Given the description of an element on the screen output the (x, y) to click on. 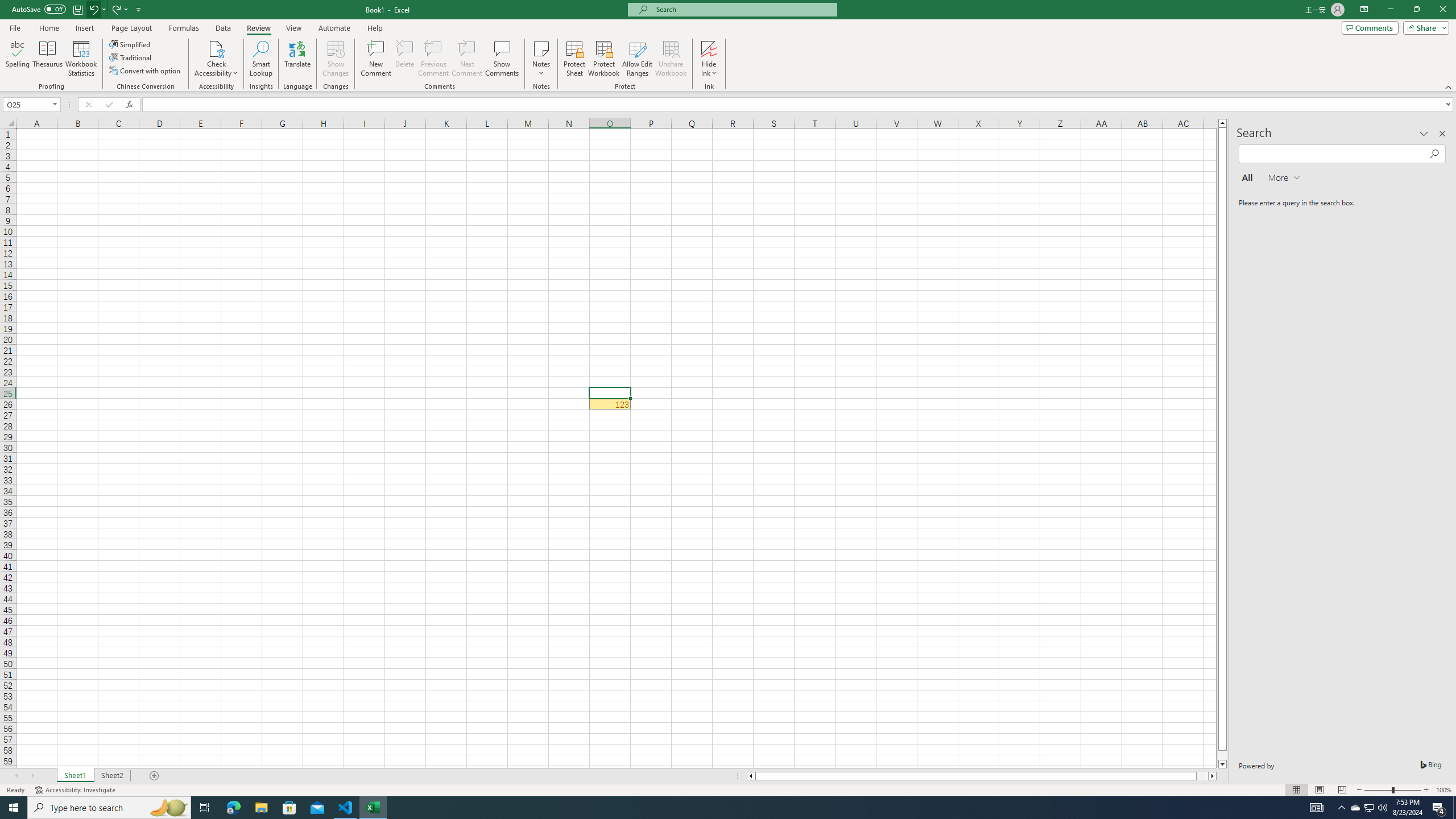
Translate (297, 58)
Simplified (130, 44)
Smart Lookup (260, 58)
Allow Edit Ranges (637, 58)
Show Comments (501, 58)
Accessibility Checker Accessibility: Investigate (76, 790)
